Given the description of an element on the screen output the (x, y) to click on. 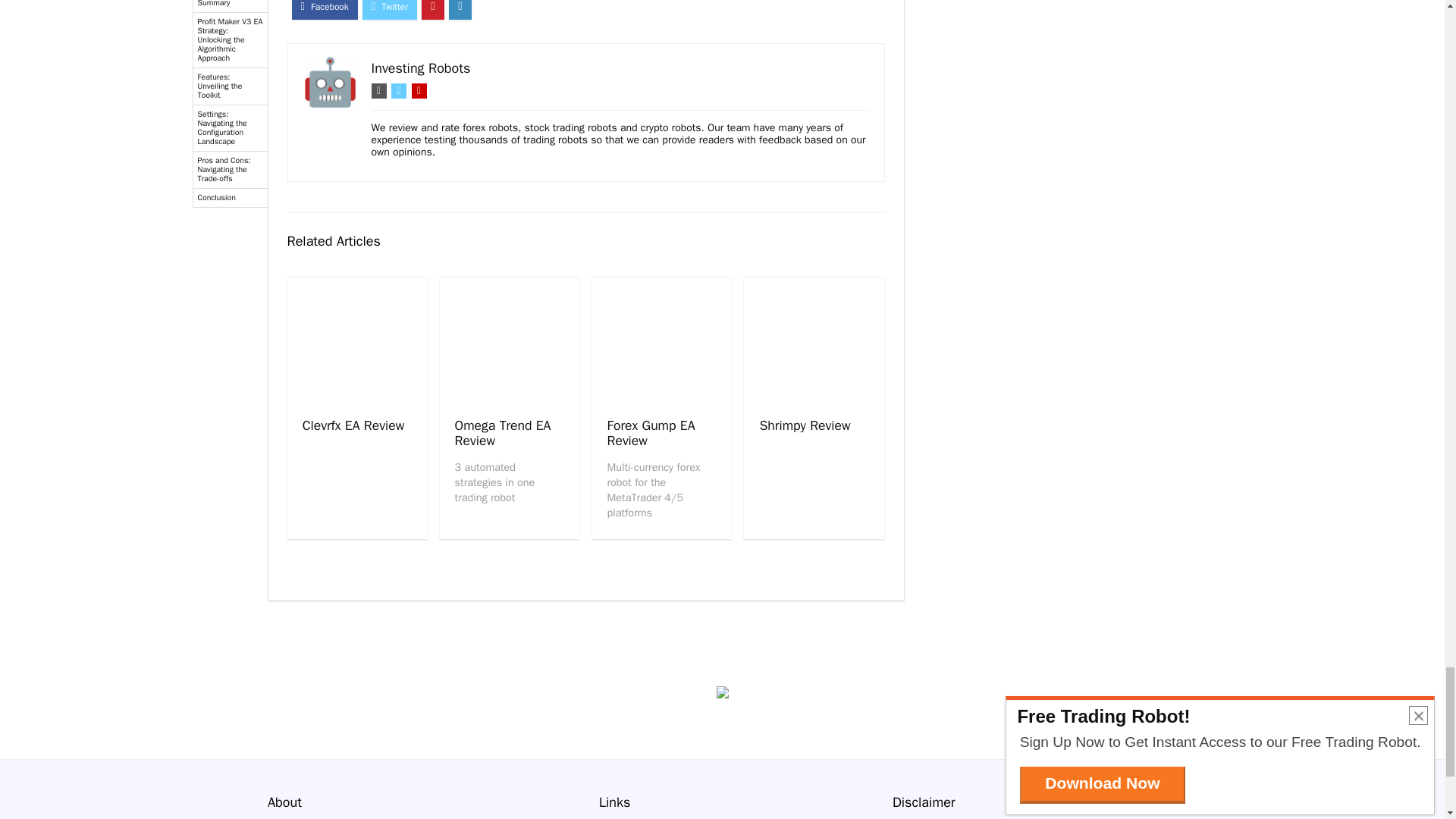
Investing Robots (420, 67)
